Given the description of an element on the screen output the (x, y) to click on. 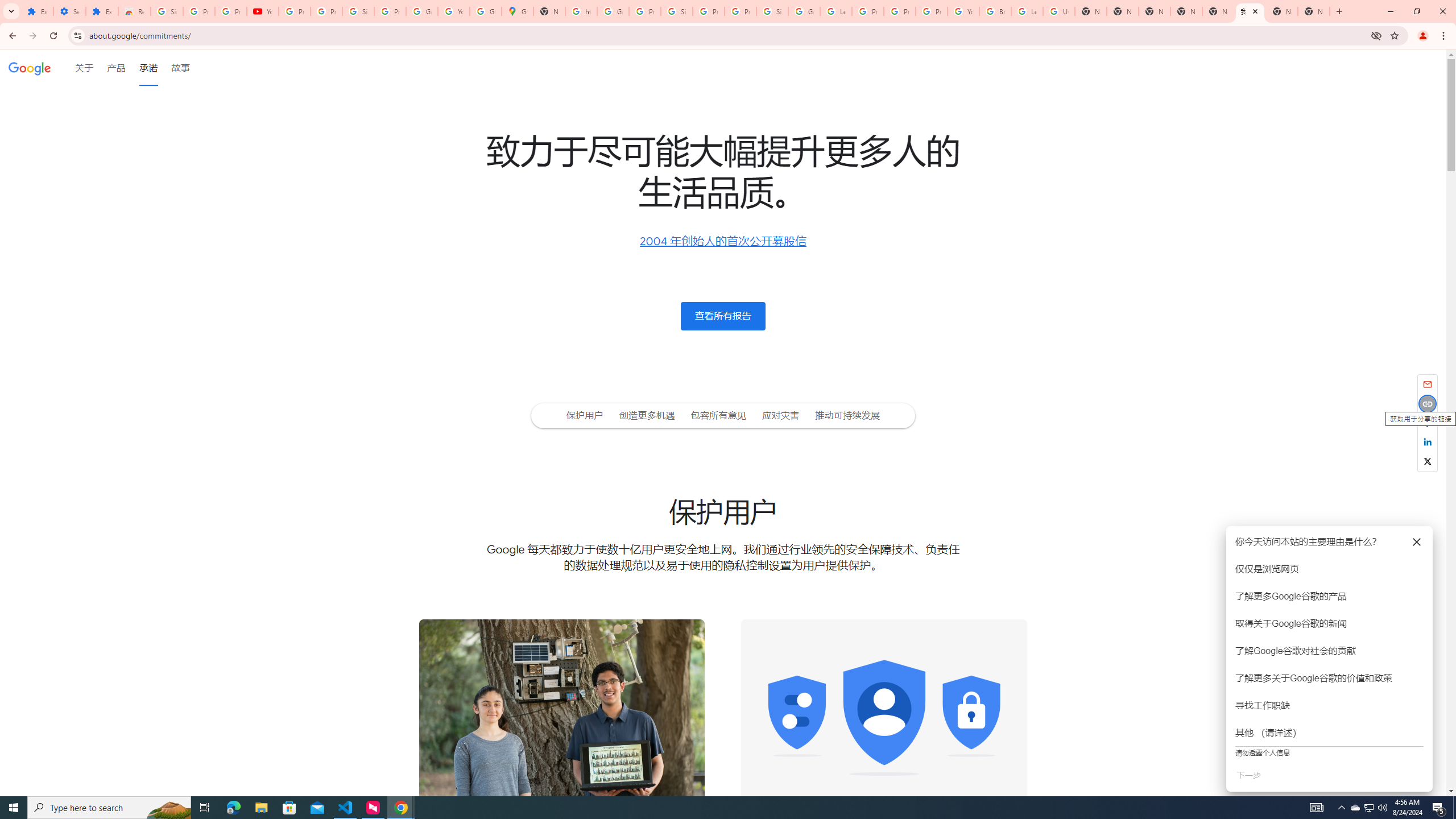
Extensions (37, 11)
https://scholar.google.com/ (581, 11)
Sign in - Google Accounts (772, 11)
Extensions (101, 11)
